Given the description of an element on the screen output the (x, y) to click on. 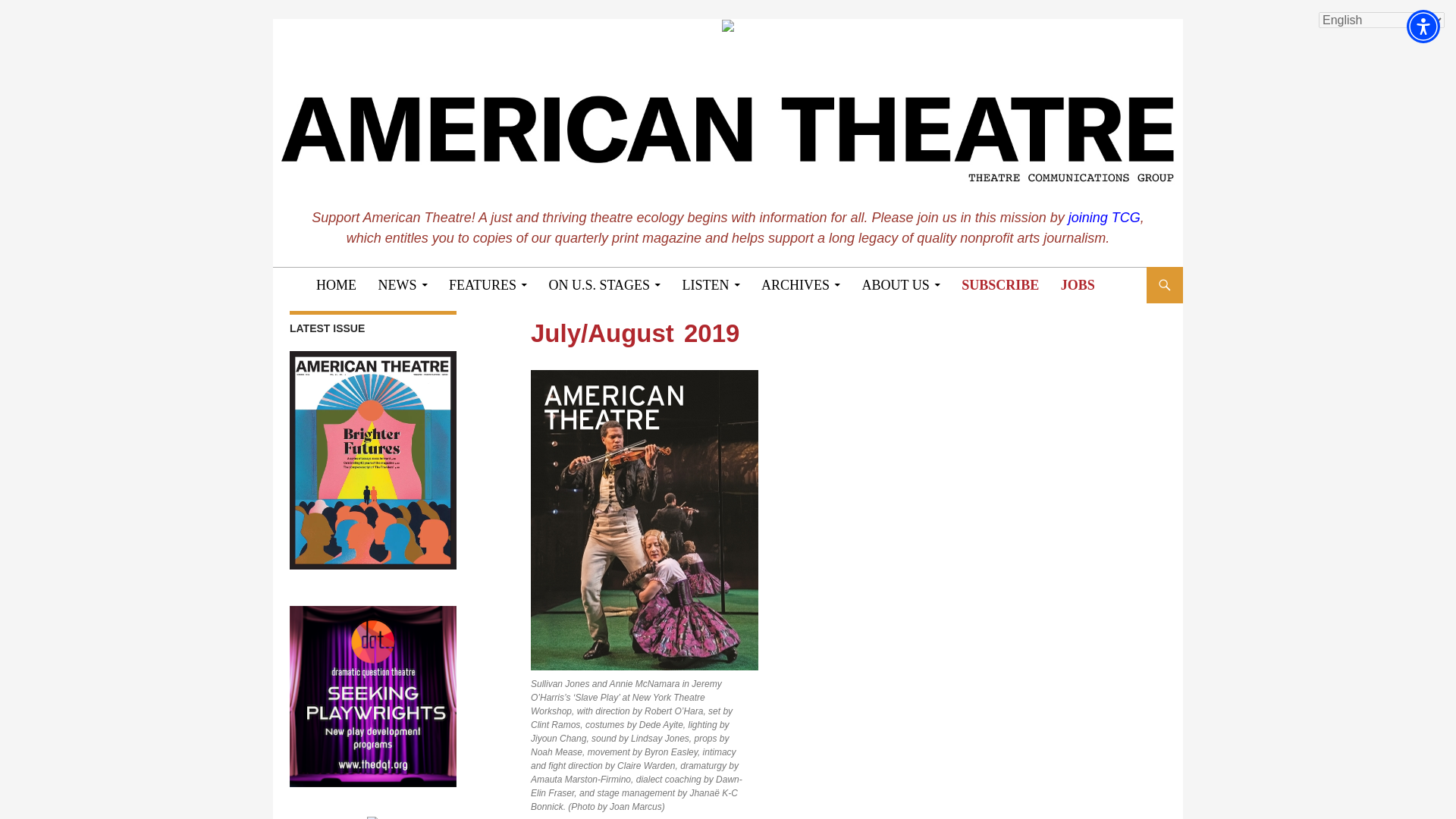
ON U.S. STAGES (604, 284)
Accessibility Menu (1422, 26)
joining TCG (1104, 217)
SUBSCRIBE (1000, 284)
ABOUT US (901, 284)
JOBS (1077, 284)
LISTEN (710, 284)
AMERICAN THEATRE (409, 284)
NEWS (401, 284)
FEATURES (487, 284)
ARCHIVES (800, 284)
HOME (336, 284)
